Given the description of an element on the screen output the (x, y) to click on. 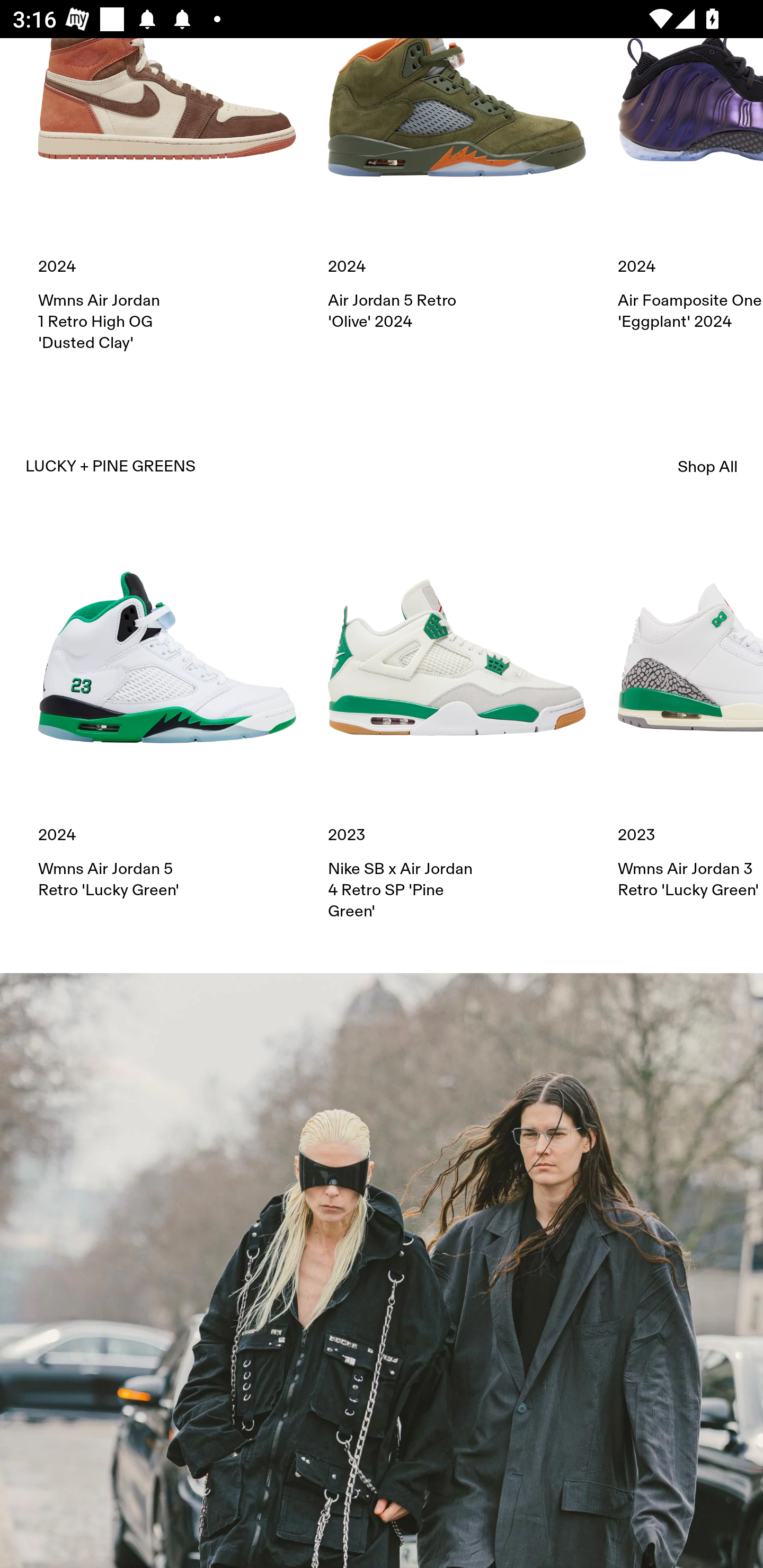
2024 Wmns Air Jordan 1 Retro High OG 'Dusted Clay' (167, 195)
2024 Air Jordan 5 Retro 'Olive' 2024 (456, 184)
2024 Air Foamposite One 'Eggplant' 2024 (690, 184)
Shop All (707, 466)
2024 Wmns Air Jordan 5 Retro 'Lucky Green' (167, 714)
2023 Nike SB x Air Jordan 4 Retro SP 'Pine Green' (456, 724)
2023 Wmns Air Jordan 3 Retro 'Lucky Green' (690, 714)
